Given the description of an element on the screen output the (x, y) to click on. 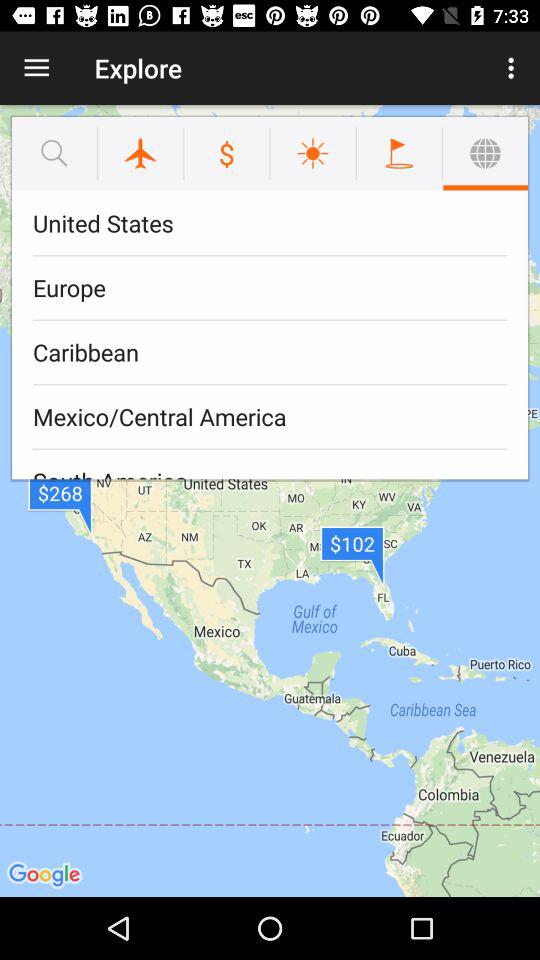
choose caribbean icon (270, 352)
